Given the description of an element on the screen output the (x, y) to click on. 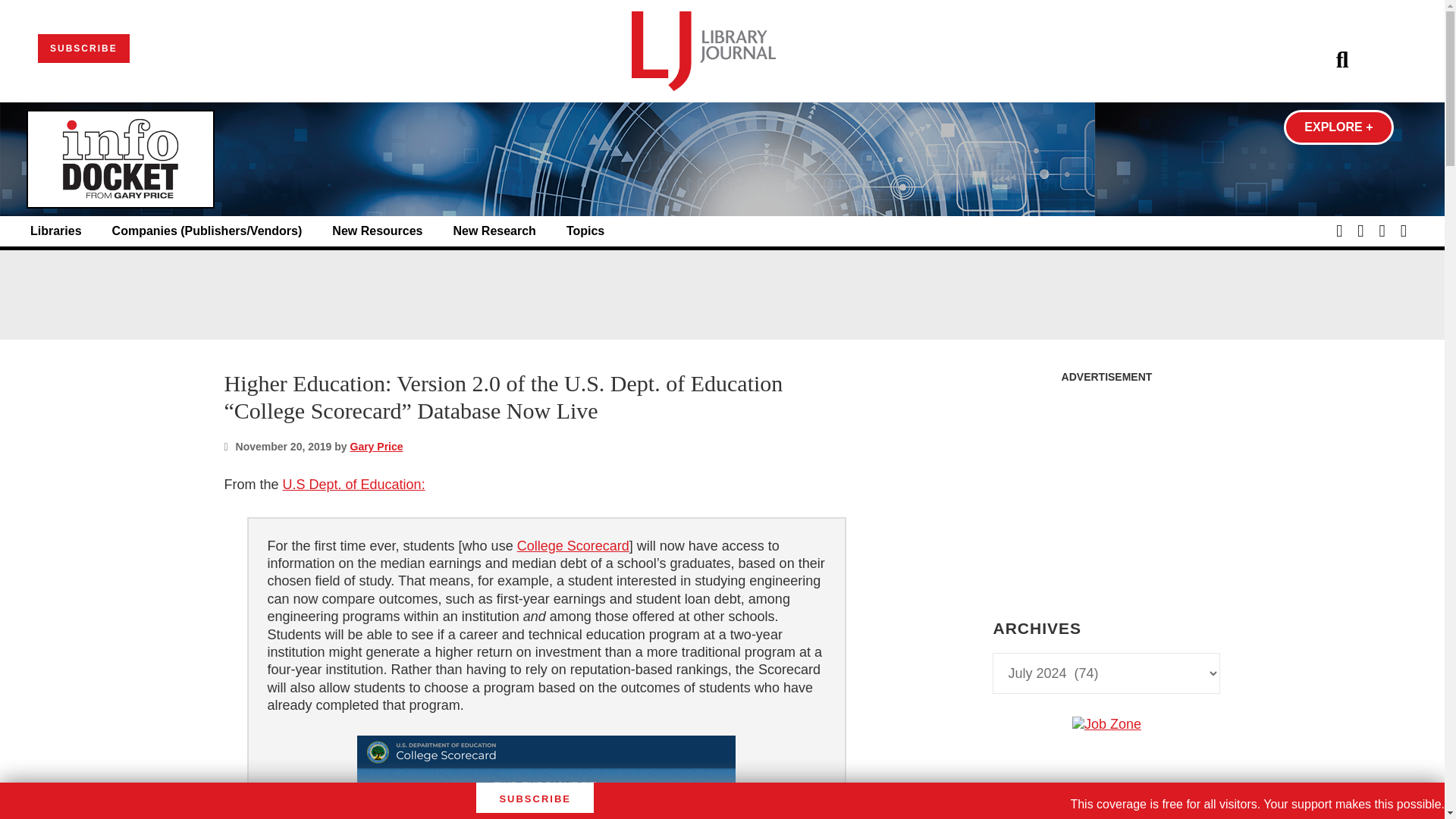
New Resources (376, 231)
3rd party ad content (1106, 816)
Libraries (55, 231)
3rd party ad content (1106, 485)
3rd party ad content (721, 294)
SUBSCRIBE (83, 48)
